Given the description of an element on the screen output the (x, y) to click on. 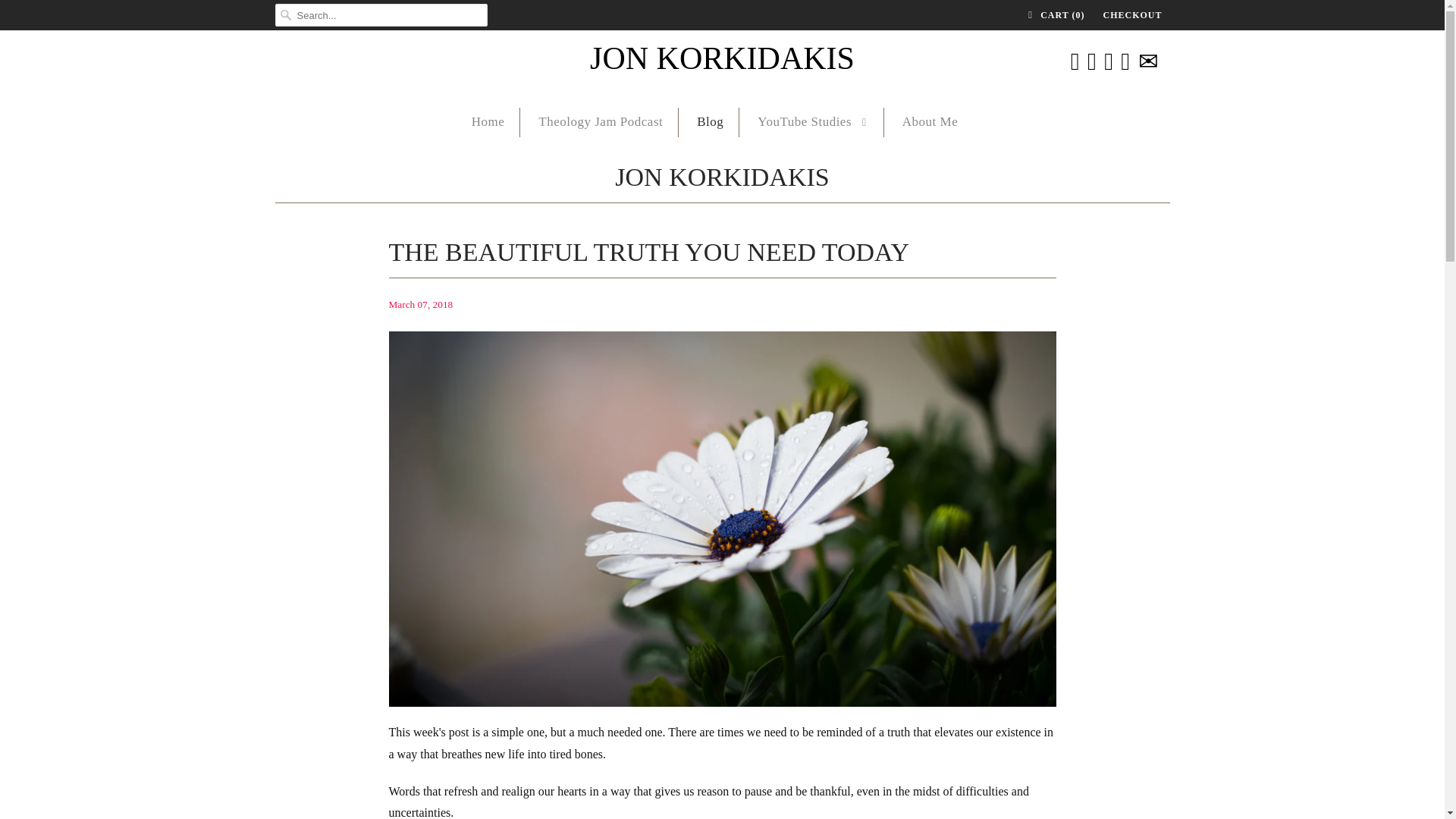
Blog (710, 122)
Theology Jam Podcast (600, 122)
Home (488, 122)
CHECKOUT (1131, 15)
Jon Korkidakis (722, 180)
JON KORKIDAKIS (722, 180)
YouTube Studies (812, 122)
Jon Korkidakis (722, 58)
About Me (930, 122)
JON KORKIDAKIS (722, 58)
